Given the description of an element on the screen output the (x, y) to click on. 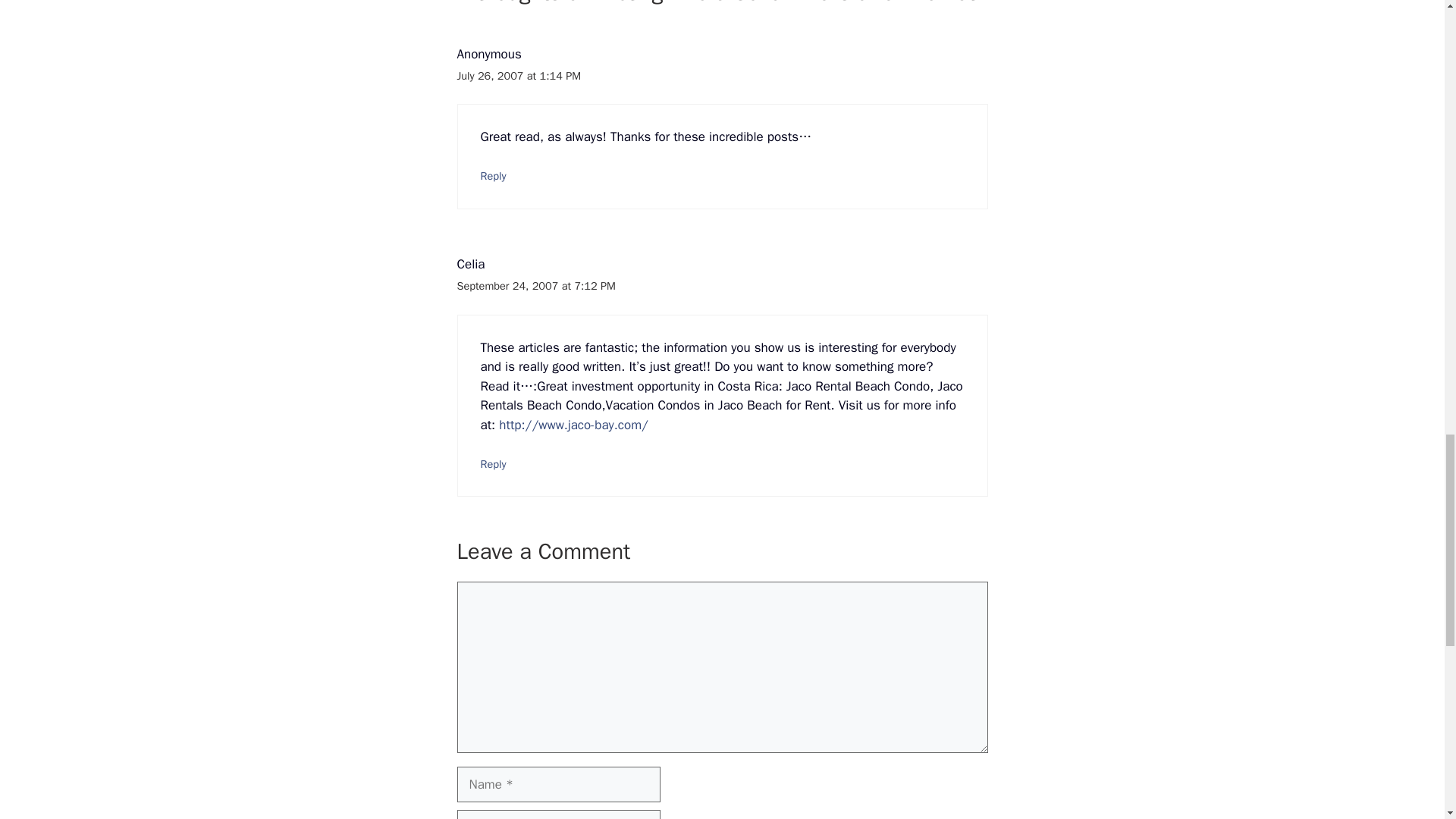
Reply (493, 175)
September 24, 2007 at 7:12 PM (535, 285)
July 26, 2007 at 1:14 PM (518, 75)
Reply (493, 463)
